Given the description of an element on the screen output the (x, y) to click on. 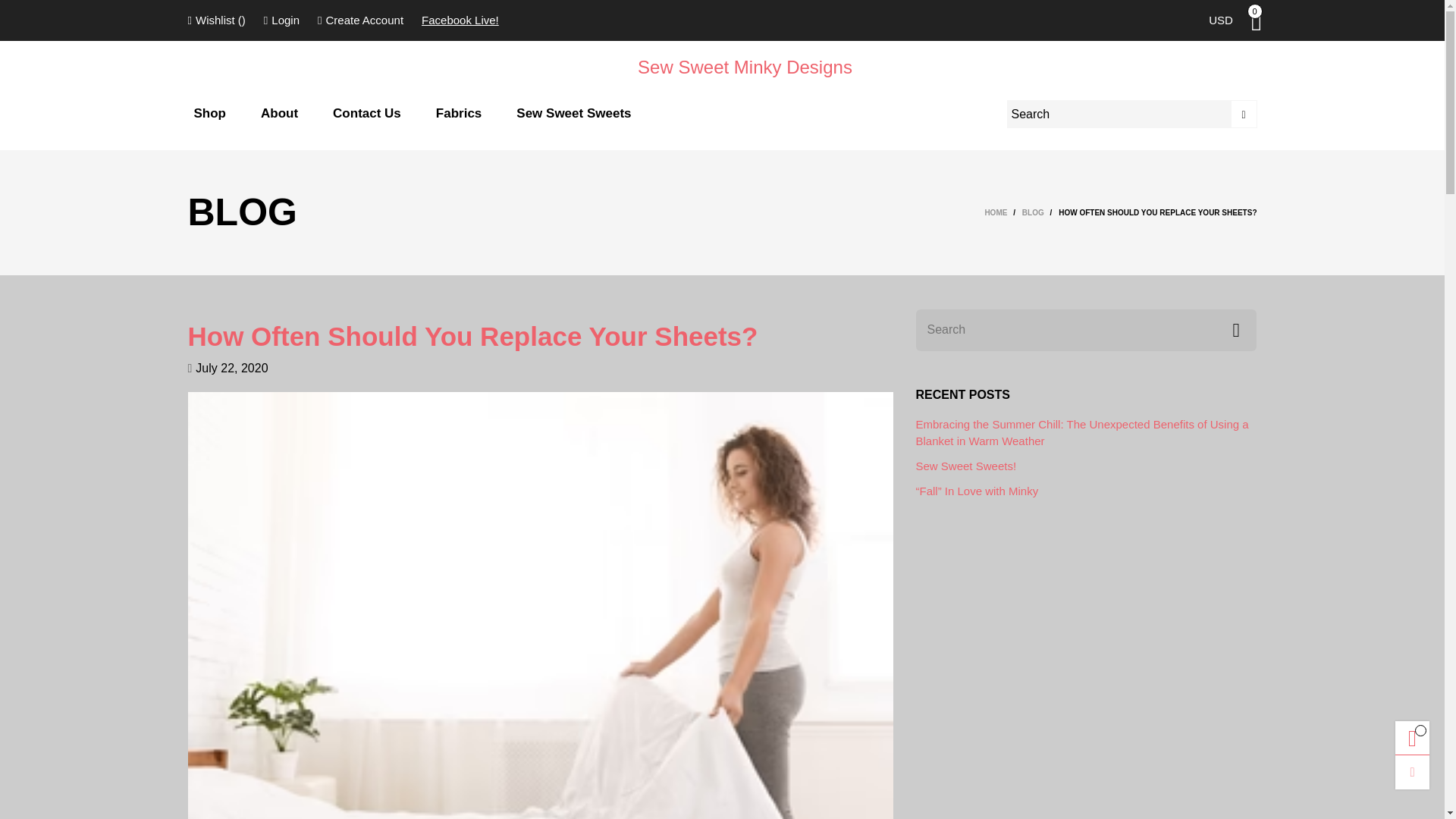
Currency (1220, 20)
About (279, 113)
My Account (281, 20)
Wishlist (216, 20)
Shop (210, 113)
Sew Sweet Minky Designs (721, 67)
Submit (1244, 113)
Create Account (360, 20)
Facebook Live! (460, 20)
Fabrics (458, 113)
